Given the description of an element on the screen output the (x, y) to click on. 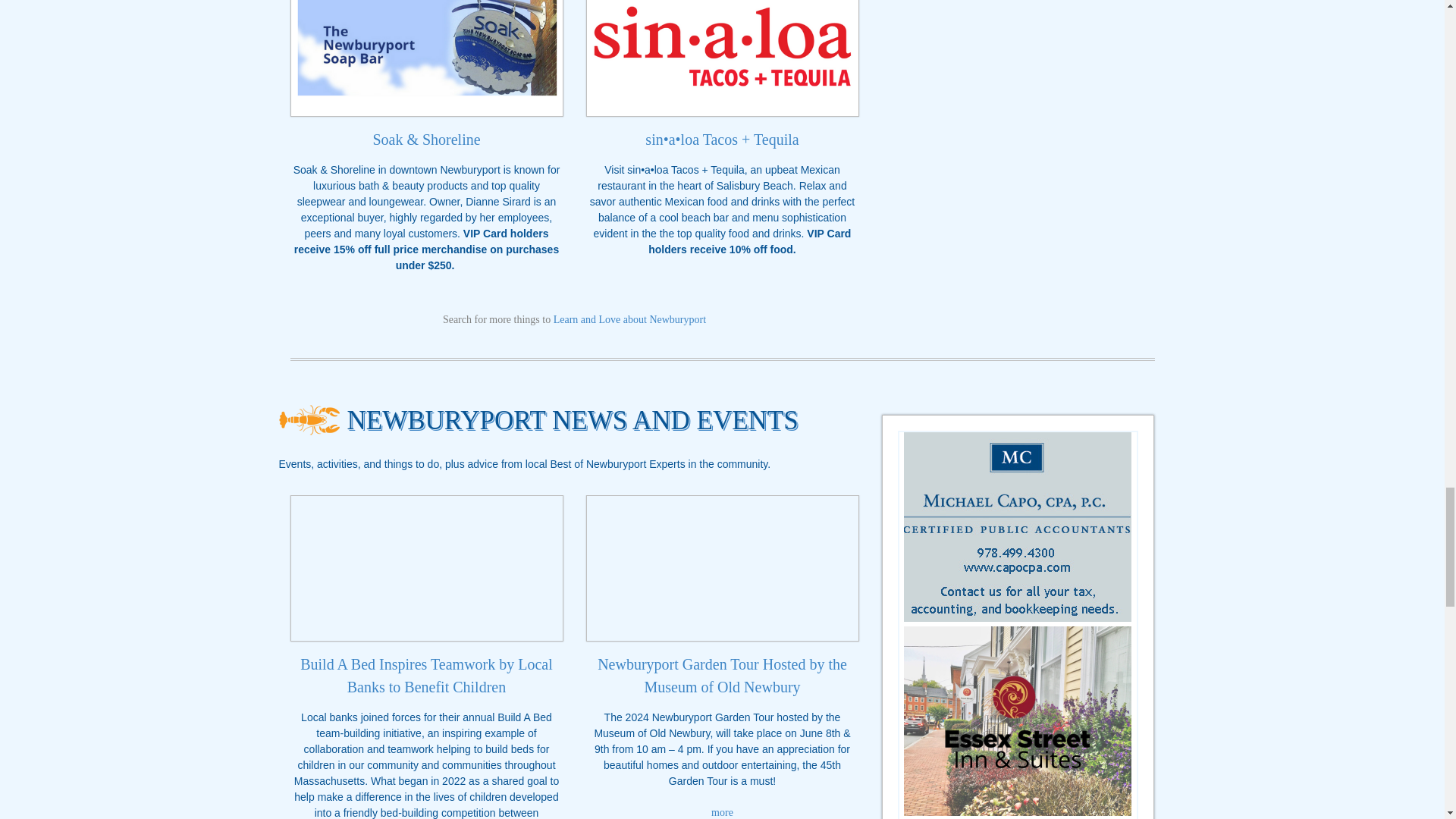
Newburyport Garden Tour - Museum of Old Newbury (722, 568)
